Given the description of an element on the screen output the (x, y) to click on. 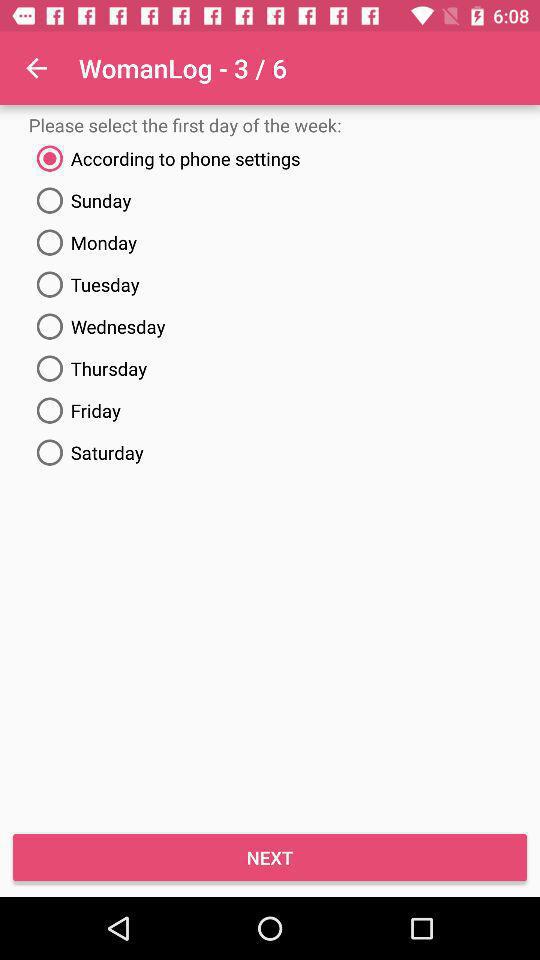
click the item below the monday (269, 284)
